Given the description of an element on the screen output the (x, y) to click on. 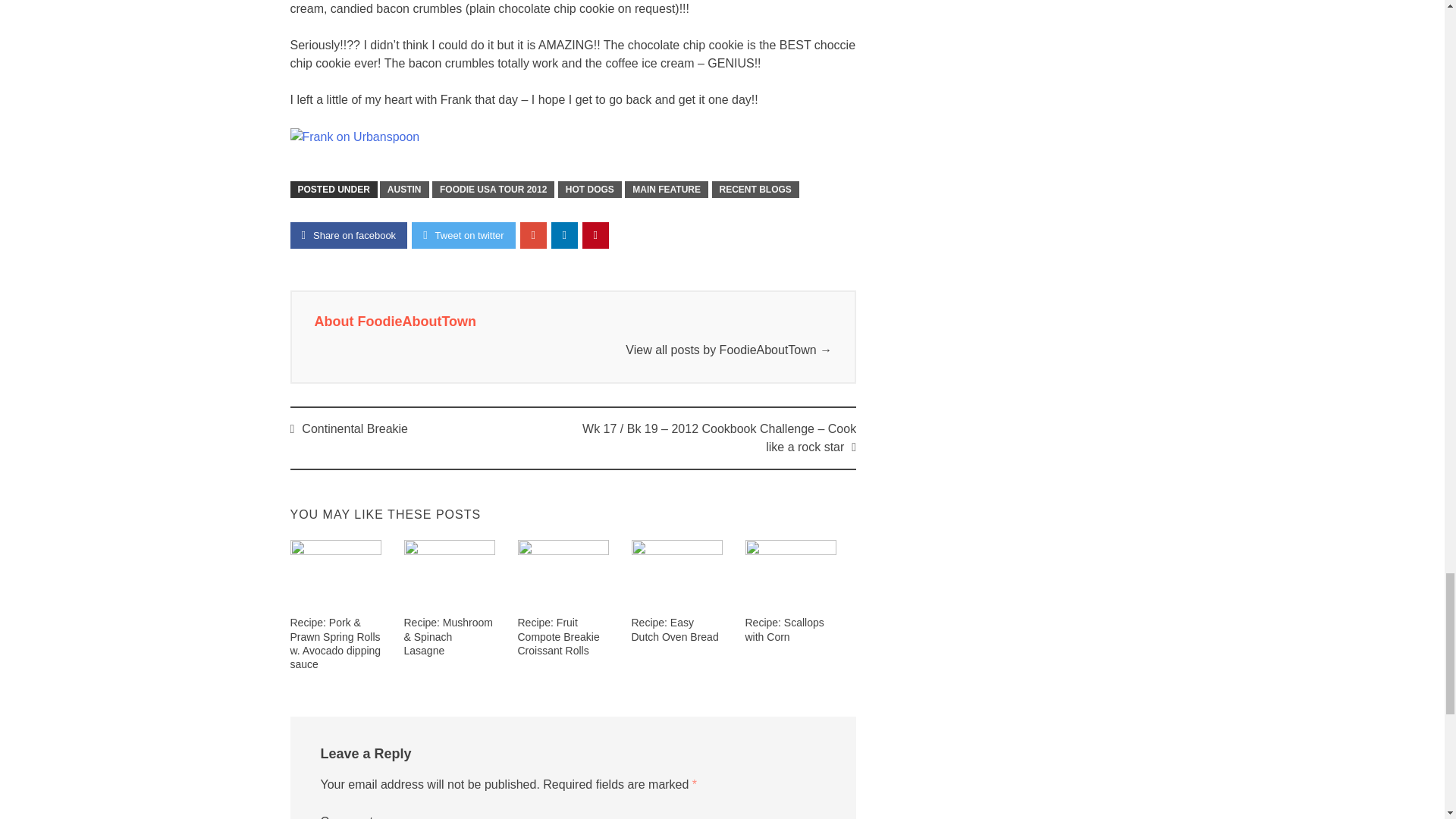
AUSTIN (404, 189)
FOODIE USA TOUR 2012 (493, 189)
RECENT BLOGS (754, 189)
HOT DOGS (589, 189)
Tweet on twitter (463, 234)
MAIN FEATURE (665, 189)
Share on facebook (348, 234)
